Given the description of an element on the screen output the (x, y) to click on. 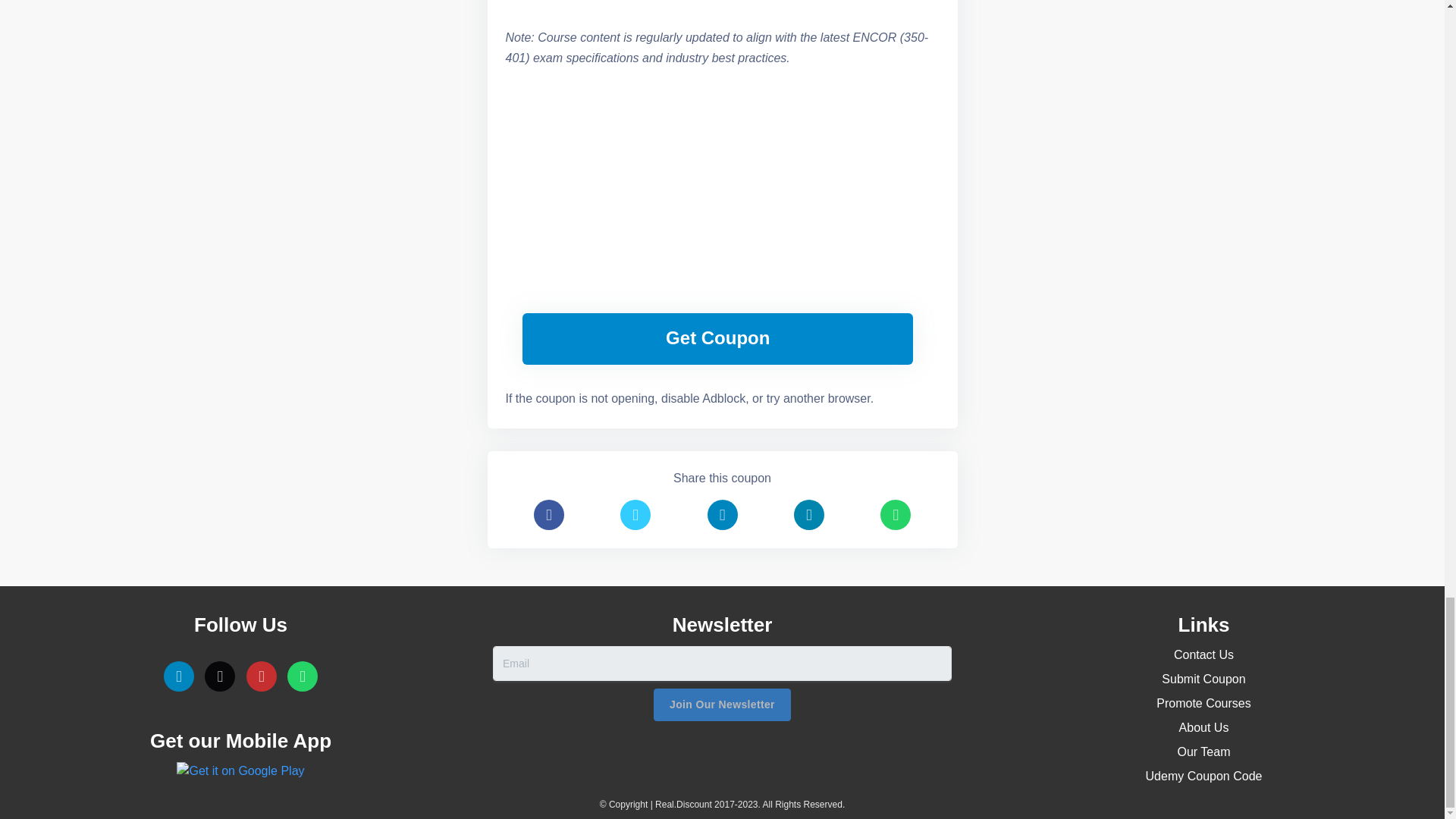
Join Our Newsletter (721, 704)
